Given the description of an element on the screen output the (x, y) to click on. 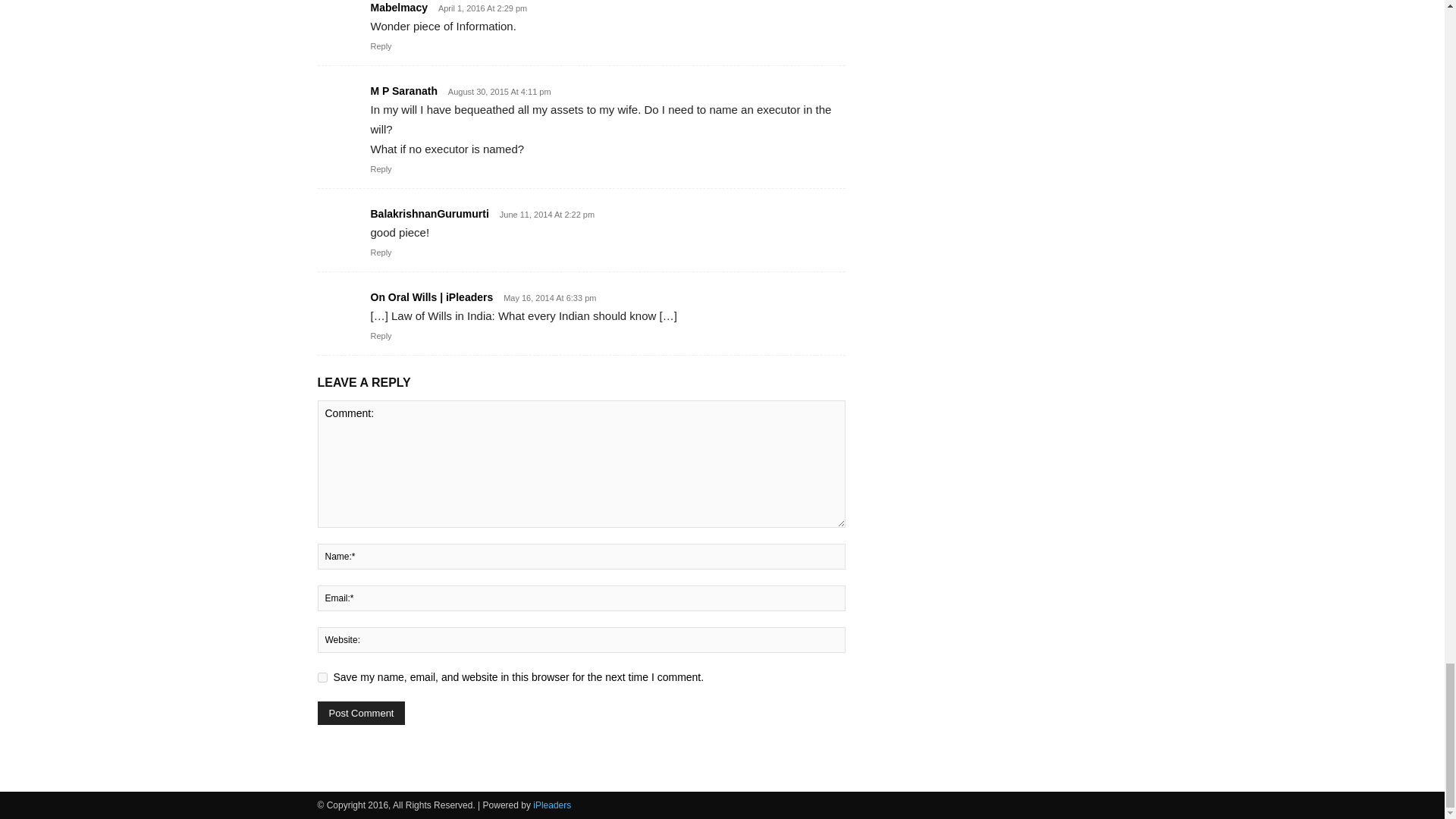
Post Comment (360, 712)
yes (321, 677)
